Given the description of an element on the screen output the (x, y) to click on. 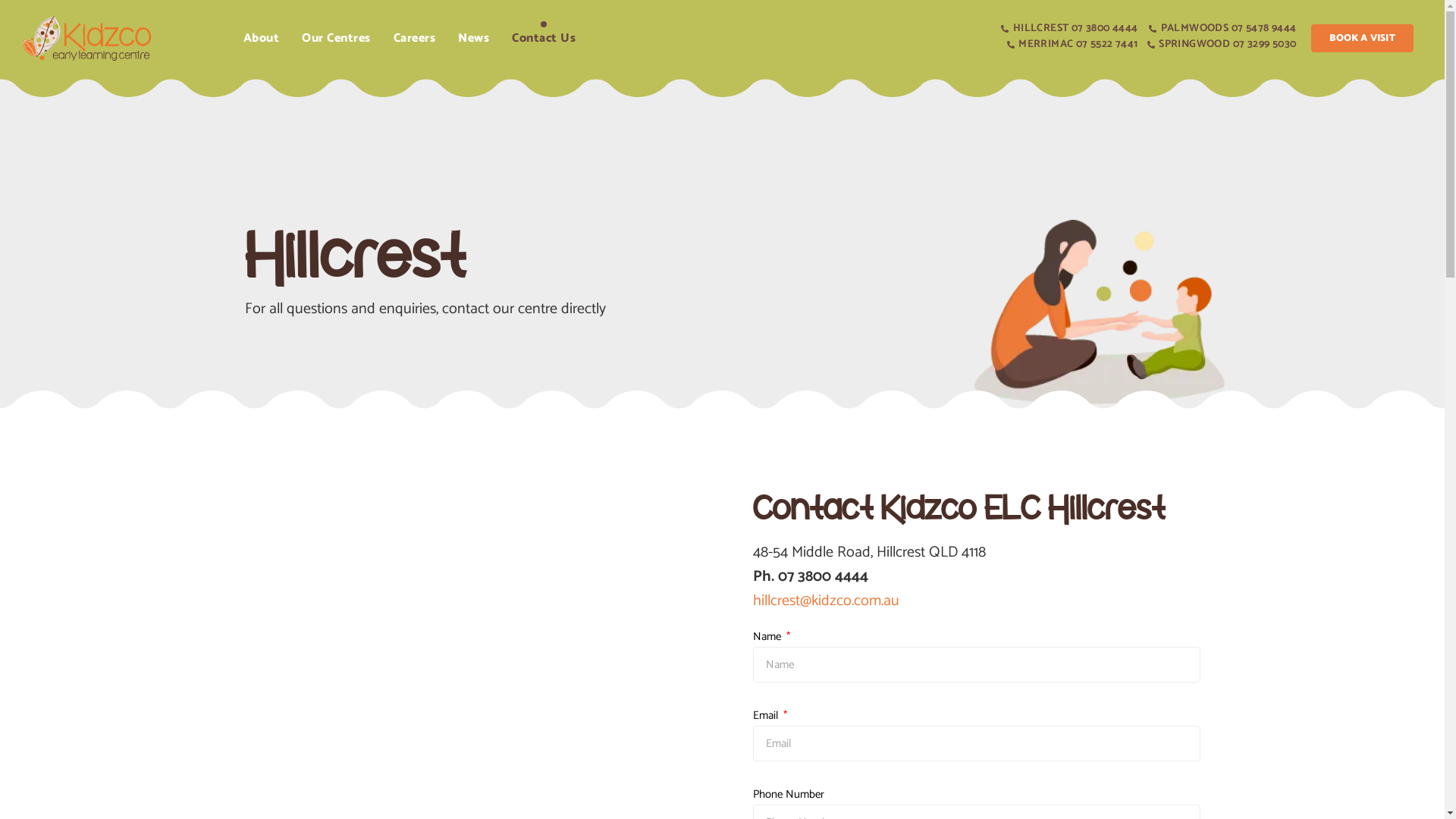
PALMWOODS 07 5478 9444 Element type: text (1220, 28)
hillcrest@kidzco.com.au Element type: text (825, 600)
HILLCREST 07 3800 4444 Element type: text (1068, 28)
News Element type: text (473, 38)
SPRINGWOOD 07 3299 5030 Element type: text (1220, 44)
BOOK A VISIT Element type: text (1361, 38)
Our Centres Element type: text (336, 38)
Careers Element type: text (414, 38)
Contact Us Element type: text (543, 38)
MERRIMAC 07 5522 7441 Element type: text (1068, 44)
About Element type: text (261, 38)
